Given the description of an element on the screen output the (x, y) to click on. 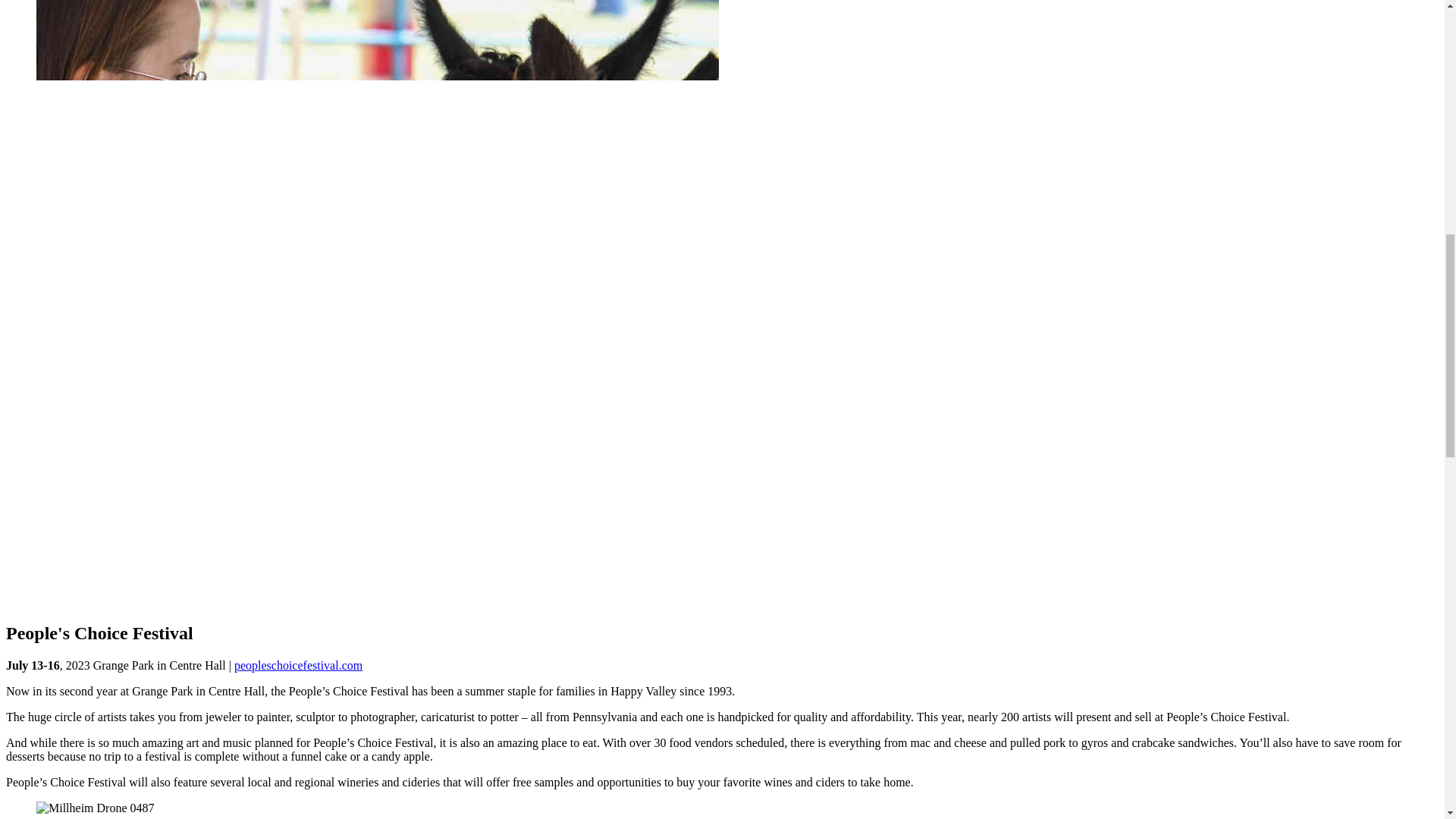
peopleschoicefestival.com (298, 665)
